Given the description of an element on the screen output the (x, y) to click on. 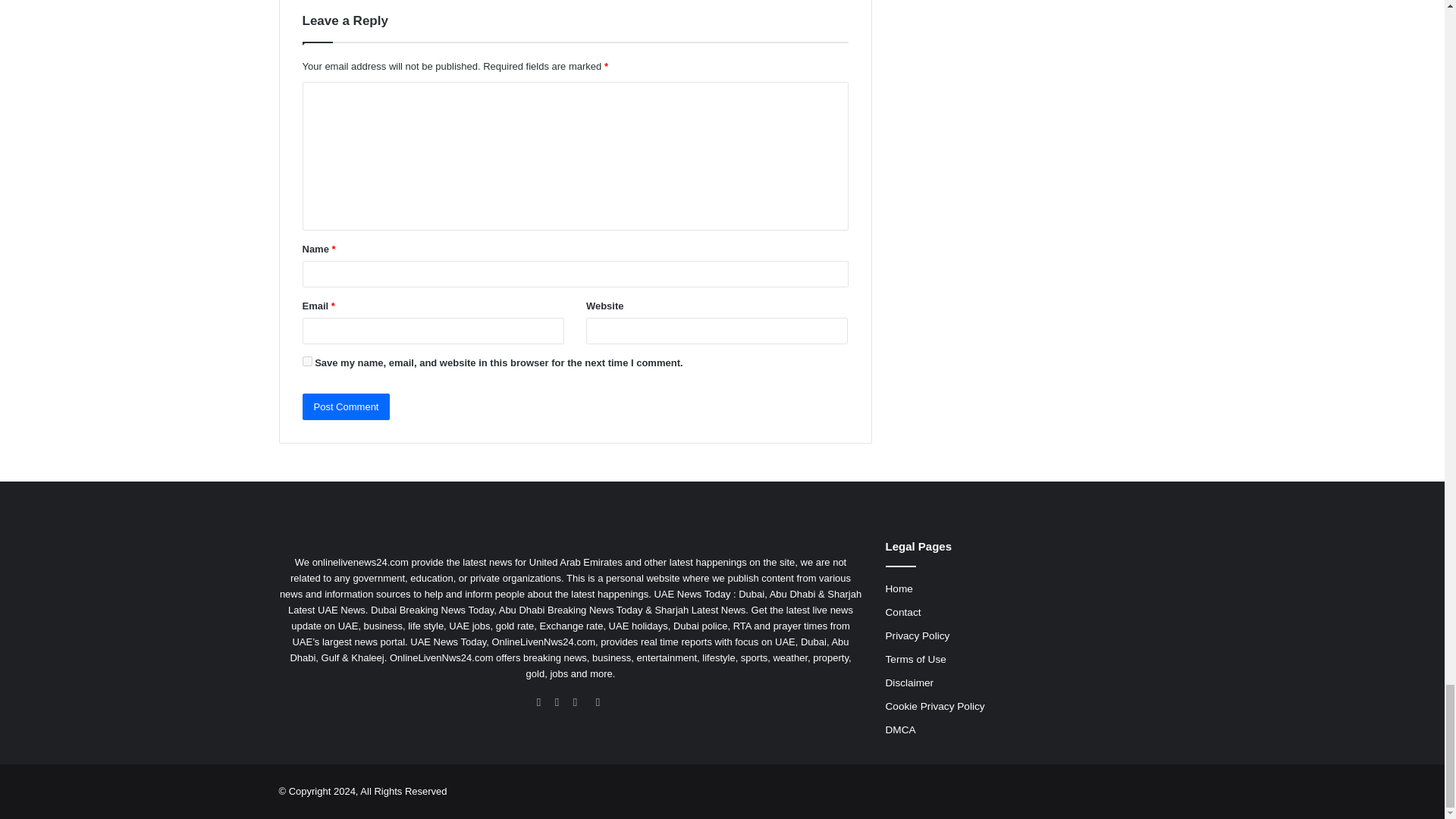
Post Comment (345, 406)
yes (306, 361)
